Given the description of an element on the screen output the (x, y) to click on. 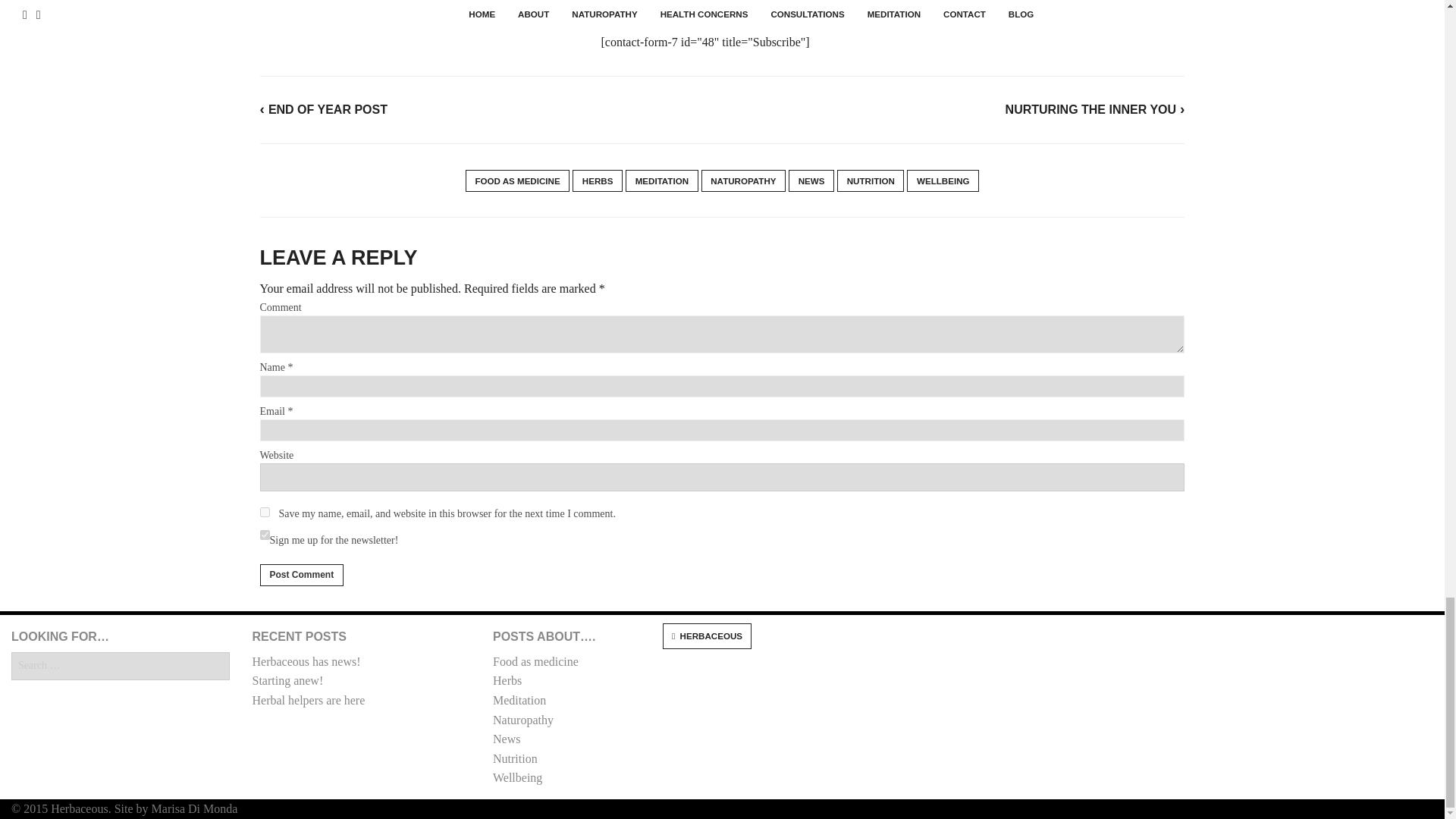
HERBACEOUS (706, 636)
FOOD AS MEDICINE (517, 180)
WELLBEING (942, 180)
Post Comment (301, 574)
Post Comment (301, 574)
END OF YEAR POST (323, 109)
1 (264, 534)
MEDITATION (662, 180)
NEWS (811, 180)
HERBS (597, 180)
